Given the description of an element on the screen output the (x, y) to click on. 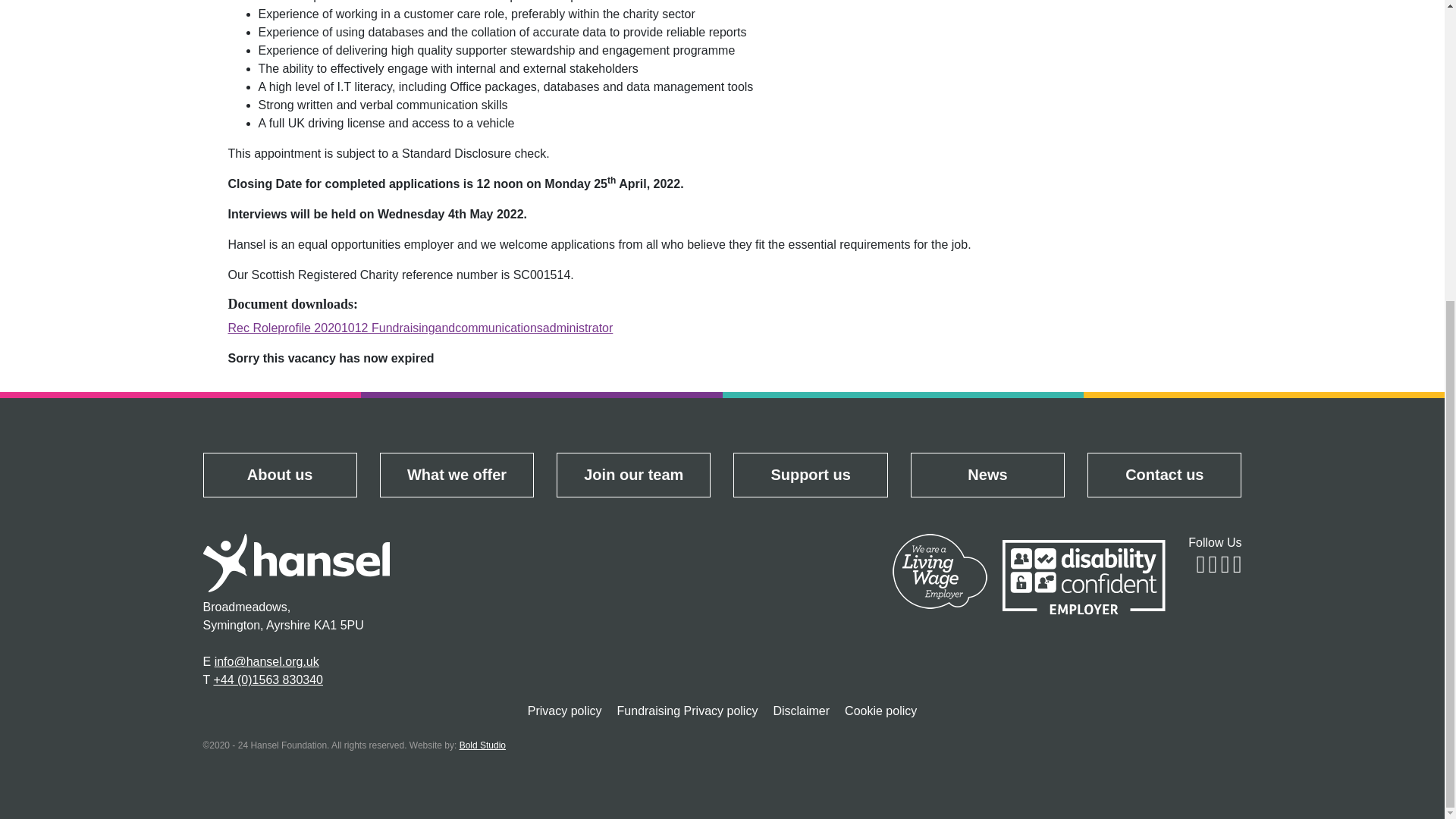
About us (279, 474)
Fundraising Privacy policy (687, 710)
Bold Studio (482, 745)
Linkedin (1237, 567)
What we offer (456, 474)
Support us (809, 474)
News (987, 474)
Cookie policy (880, 710)
Facebook (1200, 567)
Instagram (1225, 567)
Disclaimer (801, 710)
Privacy policy (564, 710)
Join our team (633, 474)
Twitter (1212, 567)
